Given the description of an element on the screen output the (x, y) to click on. 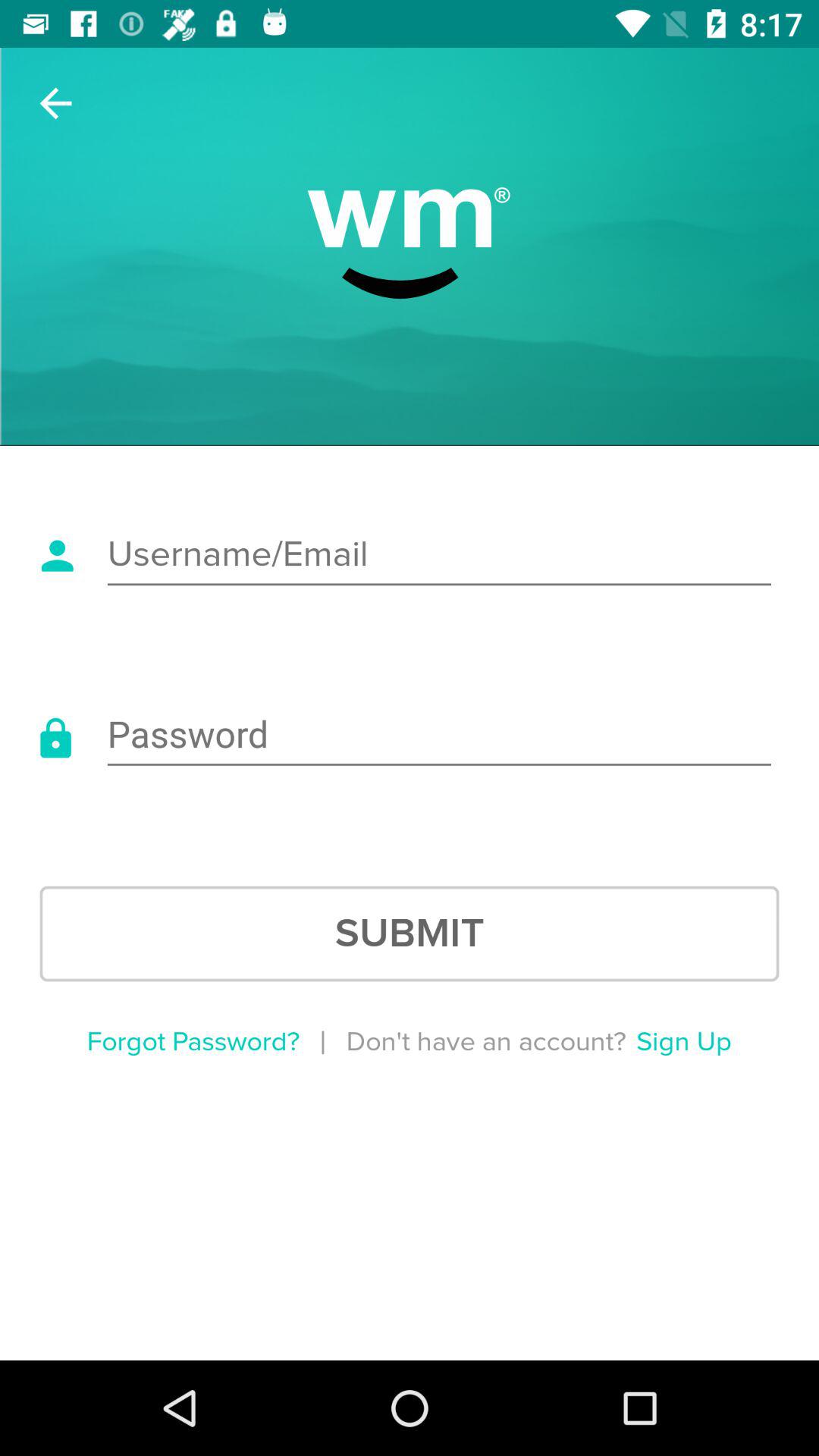
click item above the | (409, 933)
